Given the description of an element on the screen output the (x, y) to click on. 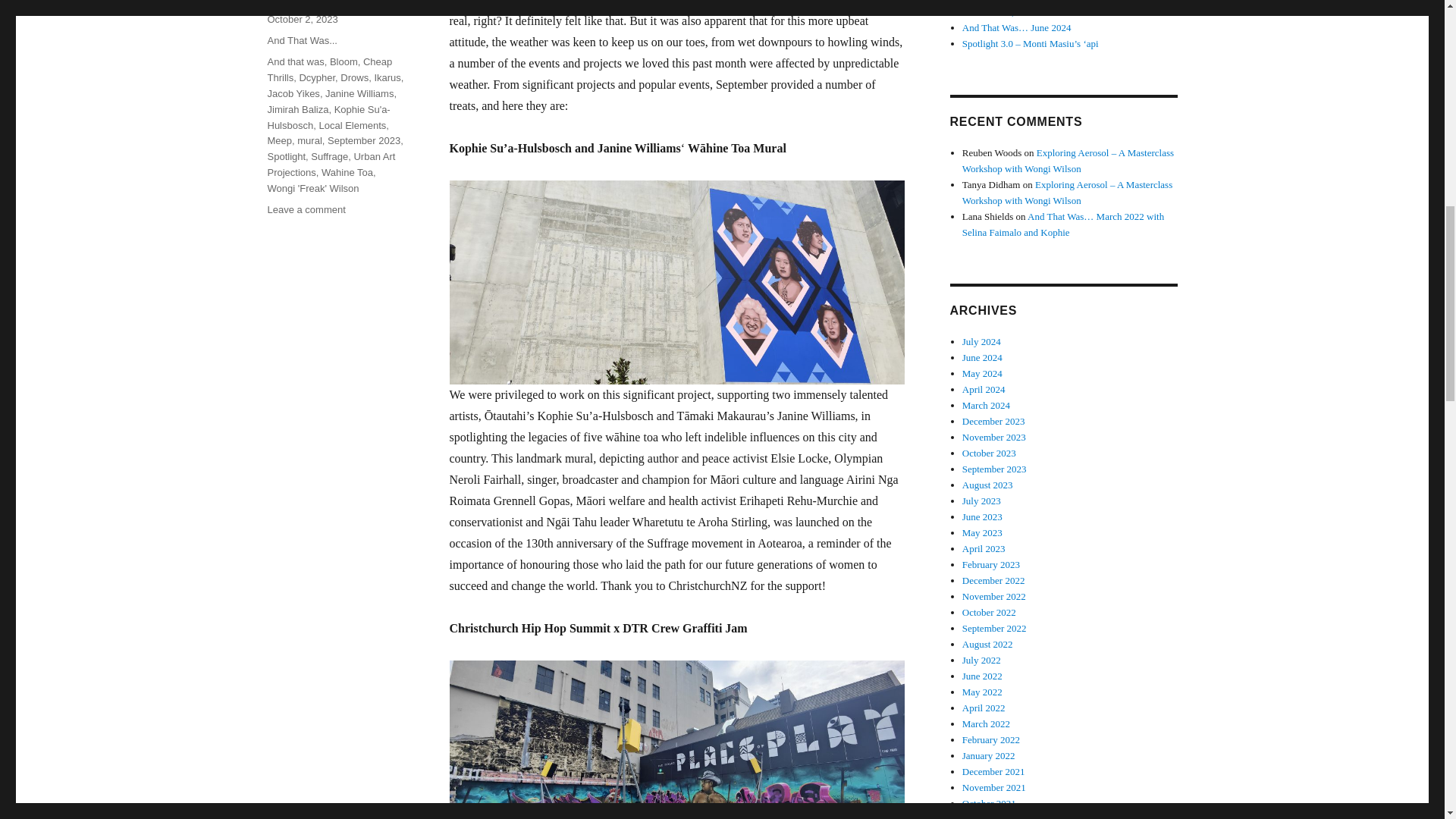
June 2024 (982, 357)
Wongi 'Freak' Wilson (312, 188)
Suffrage (329, 156)
And That Was... (301, 40)
The Giant Cans Refresh (1009, 0)
Ikarus (387, 77)
Dcypher (316, 77)
mural (309, 140)
And that was (294, 61)
Reuben Woods (300, 2)
Jacob Yikes (292, 93)
Drows (354, 77)
Local Elements (351, 125)
Wahine Toa (346, 172)
Cheap Thrills (328, 69)
